Given the description of an element on the screen output the (x, y) to click on. 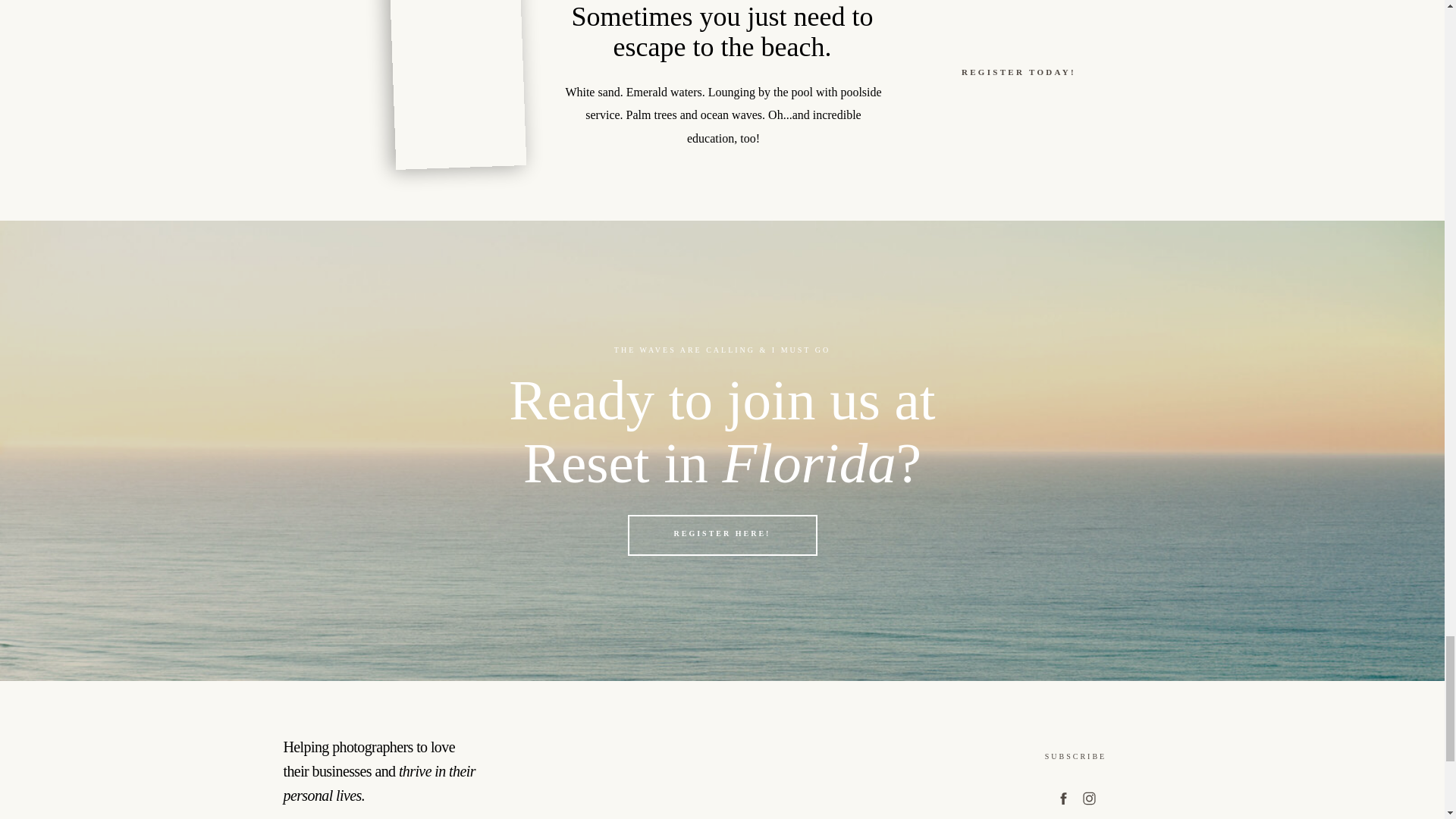
Ready to join us at Reset in Florida? (722, 431)
REGISTER TODAY! (1018, 72)
